Given the description of an element on the screen output the (x, y) to click on. 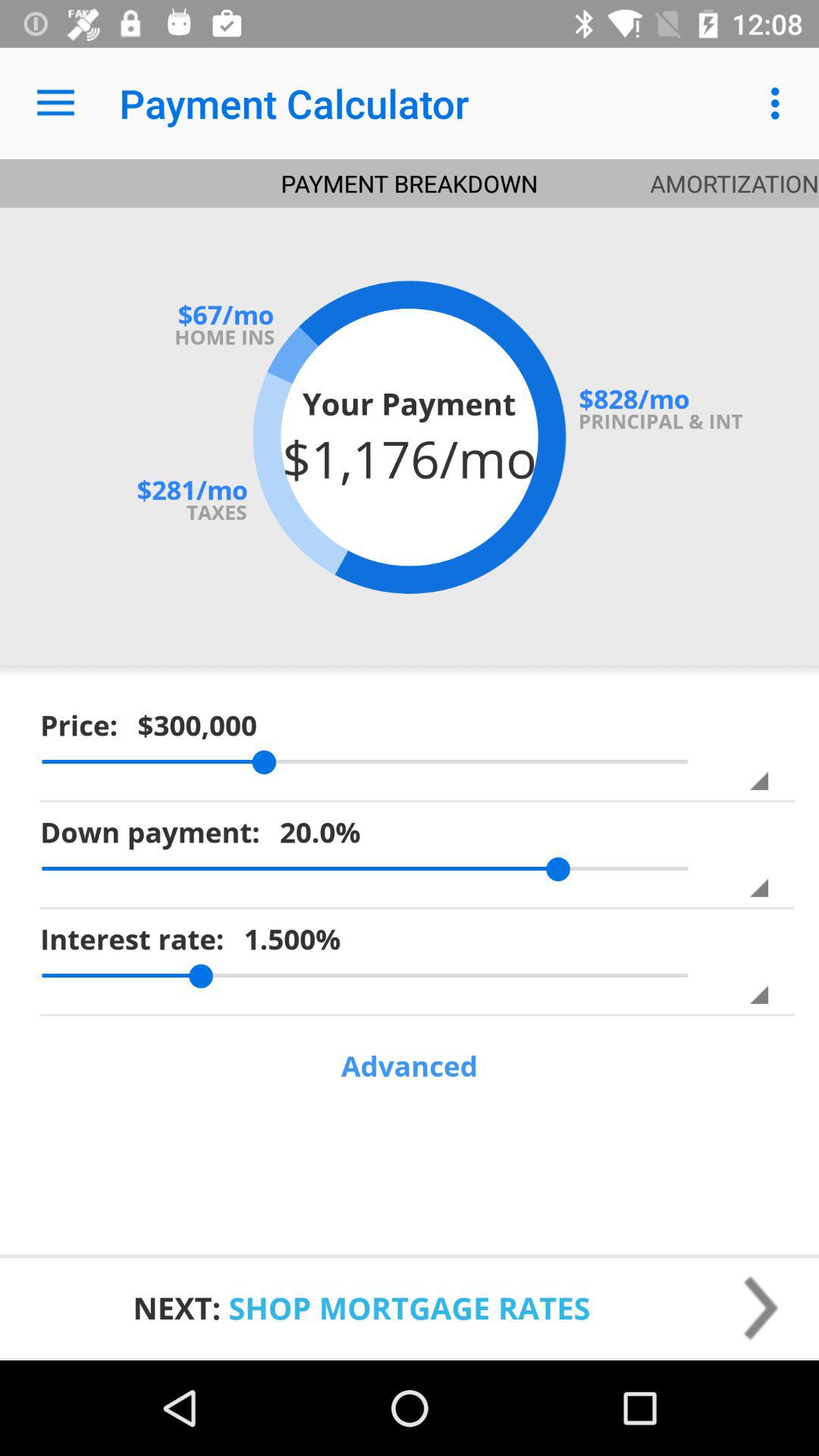
click advanced item (409, 1065)
